Given the description of an element on the screen output the (x, y) to click on. 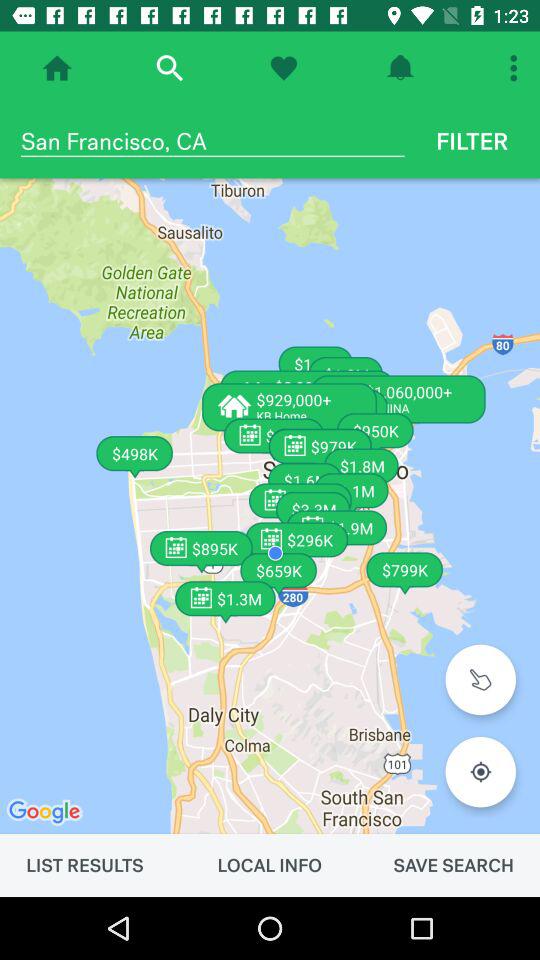
search items (169, 68)
